Given the description of an element on the screen output the (x, y) to click on. 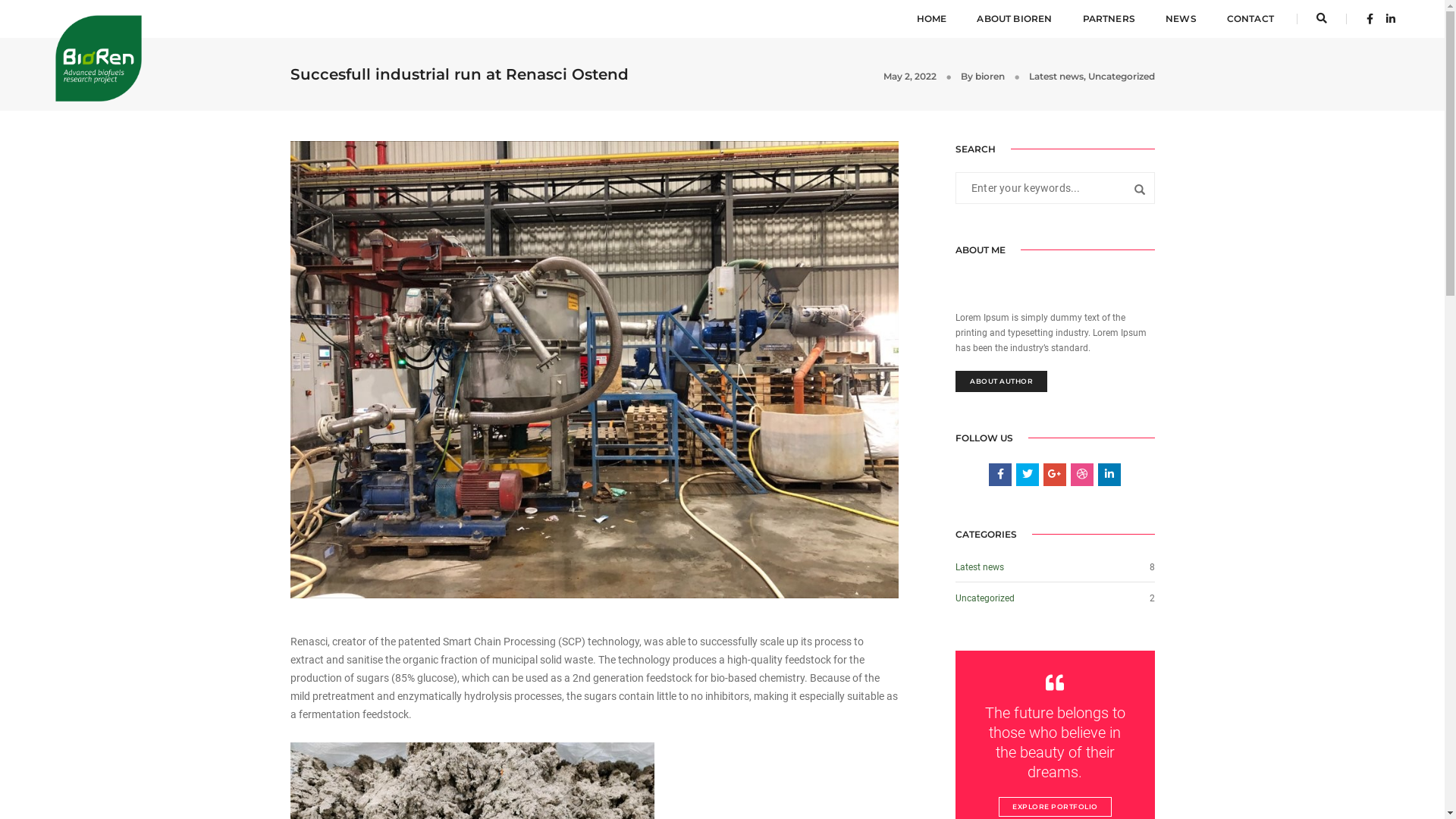
Uncategorized Element type: text (984, 598)
EXPLORE PORTFOLIO Element type: text (1054, 806)
Bioren Element type: hover (98, 18)
ABOUT AUTHOR Element type: text (1001, 381)
Latest news Element type: text (1055, 75)
Latest news Element type: text (979, 566)
Uncategorized Element type: text (1120, 75)
bioren Element type: text (989, 75)
